Given the description of an element on the screen output the (x, y) to click on. 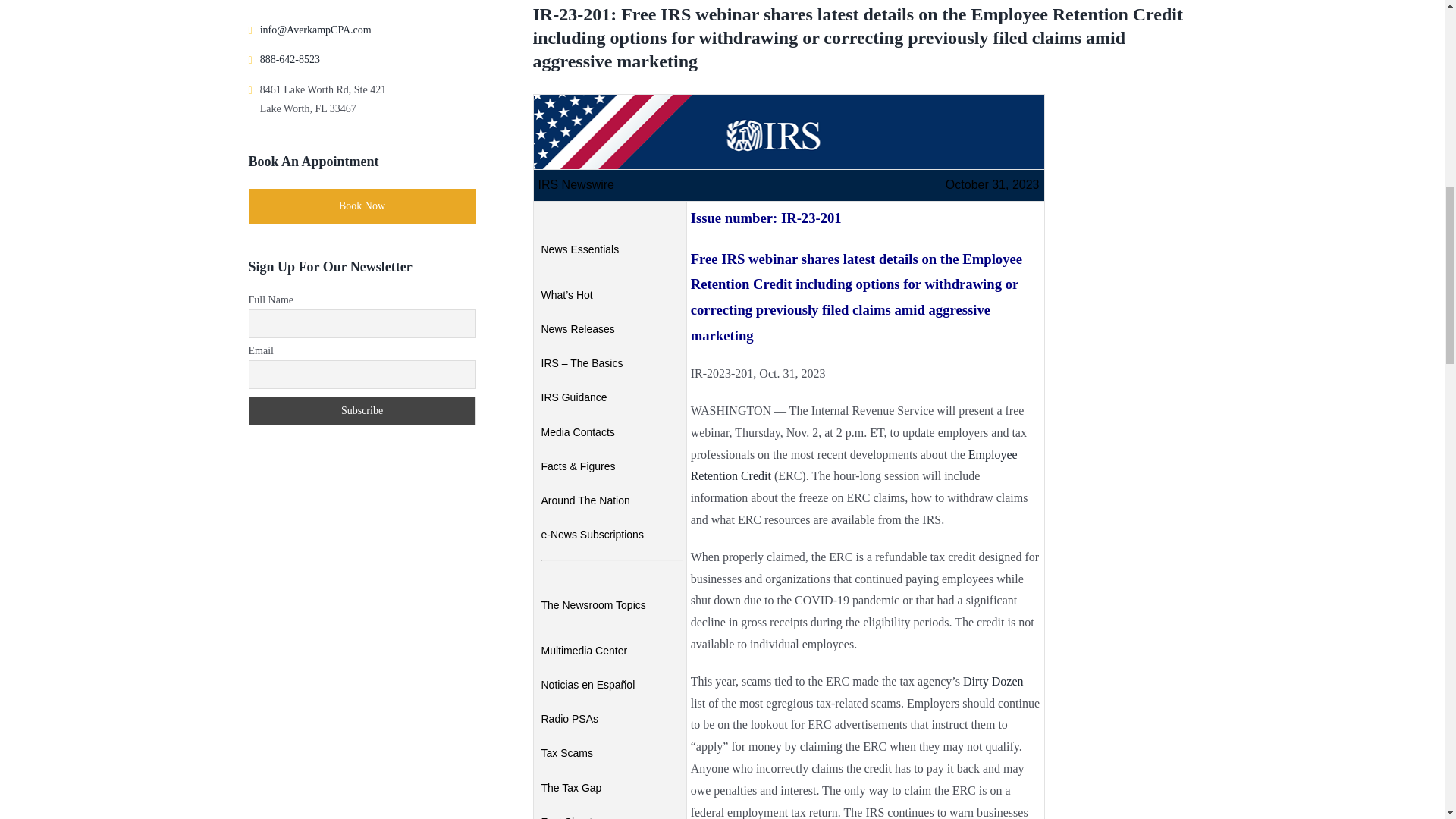
Subscribe (362, 410)
